Given the description of an element on the screen output the (x, y) to click on. 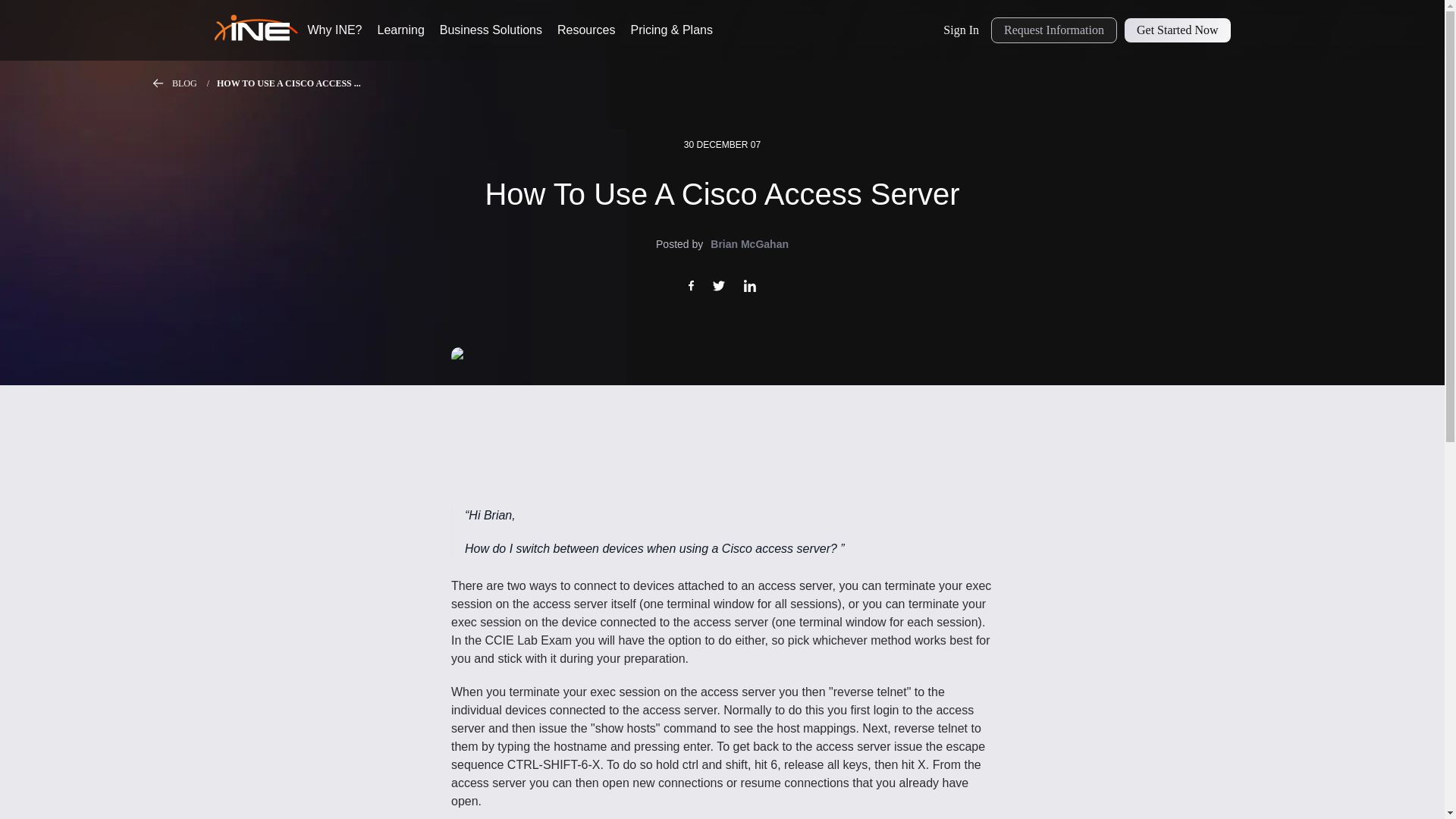
Sign In (961, 30)
Request Information (1053, 30)
Get Started Now (1177, 30)
Why INE? (334, 30)
BLOG (193, 83)
Business Solutions (490, 30)
Resources (585, 30)
